Given the description of an element on the screen output the (x, y) to click on. 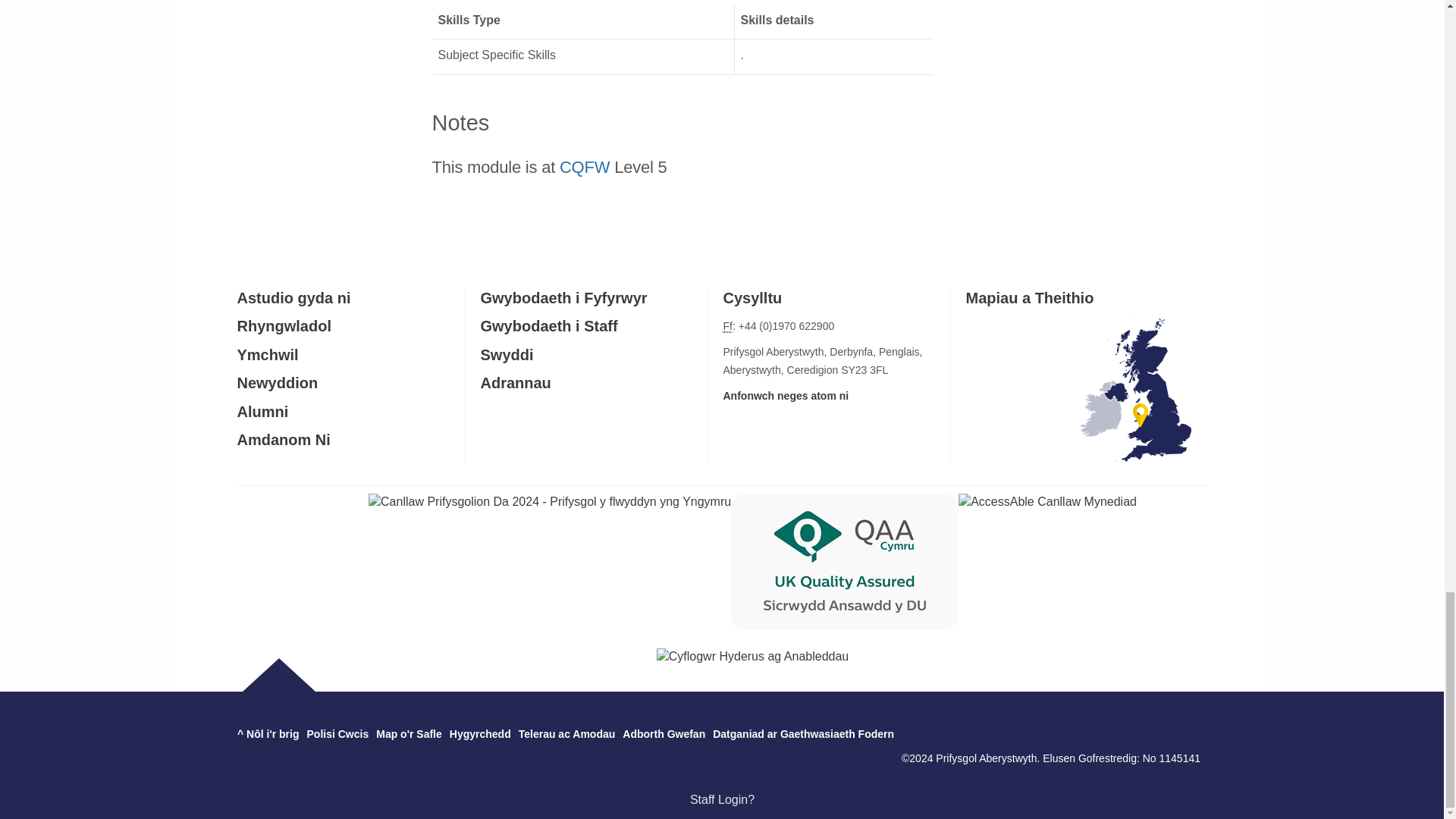
Anfon adborth i ni ar y wefan hon. (663, 734)
Datganiad ar Gaethwasiaeth Fodern (803, 734)
Polisi Cwci (338, 734)
Map testun y wefan hon. (408, 734)
Hygyrchedd (480, 734)
